Given the description of an element on the screen output the (x, y) to click on. 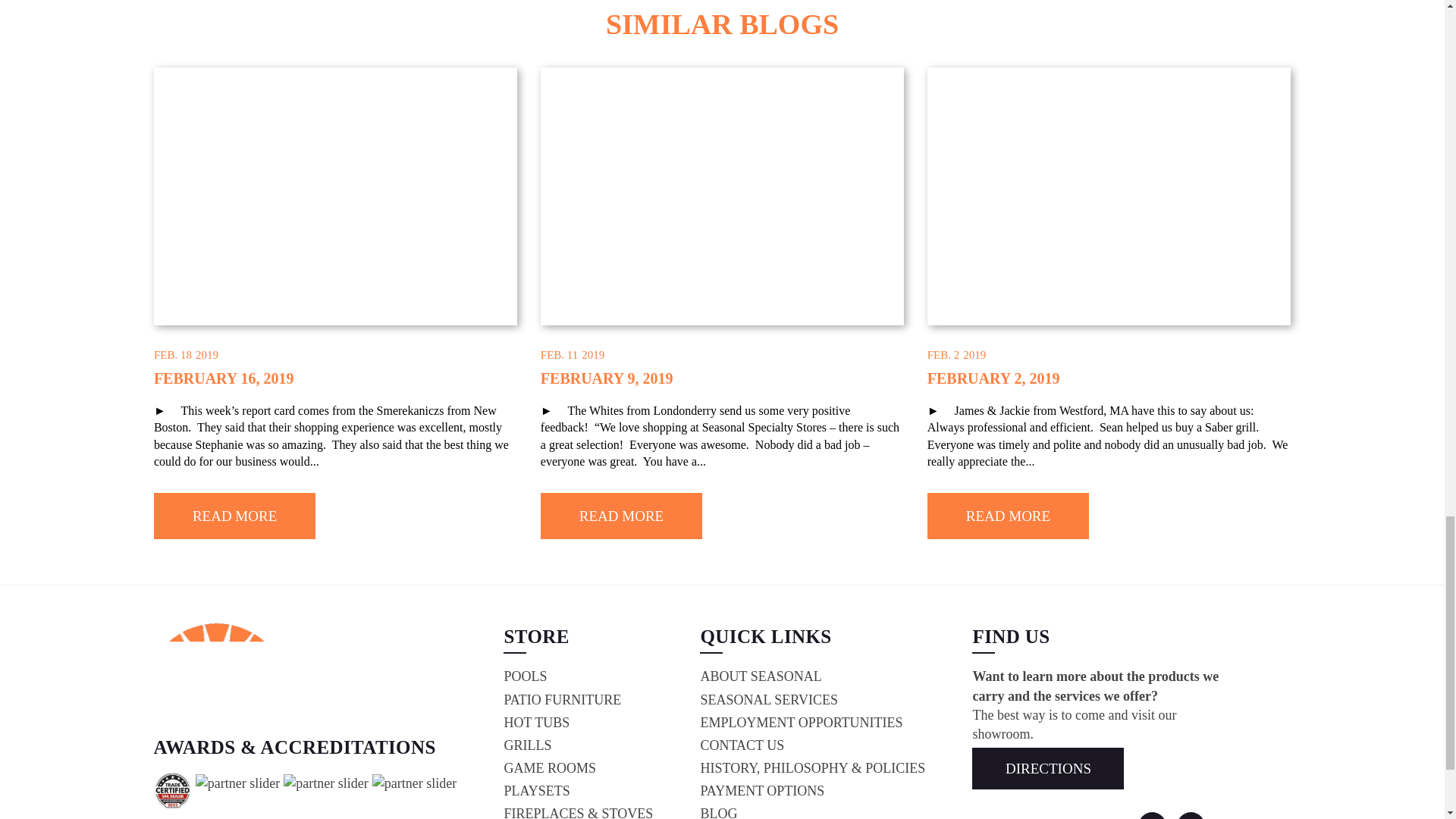
READ MORE (234, 515)
FEBRUARY 16, 2019 (224, 378)
READ MORE (1008, 515)
FEBRUARY 2, 2019 (993, 378)
READ MORE (620, 515)
FEBRUARY 9, 2019 (606, 378)
